Given the description of an element on the screen output the (x, y) to click on. 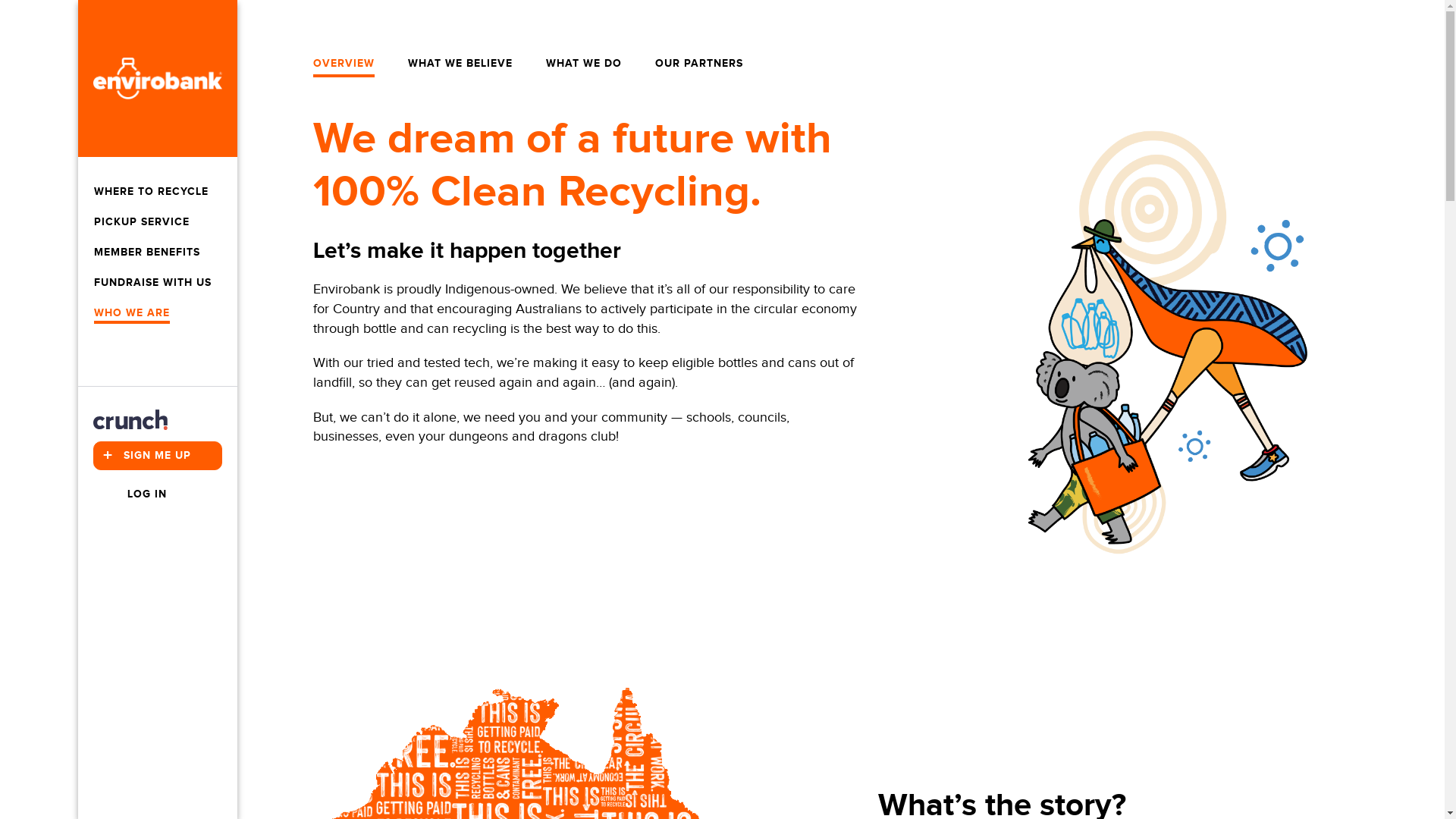
OUR PARTNERS Element type: text (699, 62)
OVERVIEW Element type: text (342, 62)
PICKUP SERVICE Element type: text (141, 222)
MEMBER BENEFITS Element type: text (147, 252)
LOG IN Element type: text (129, 494)
WHAT WE BELIEVE Element type: text (459, 62)
WHERE TO RECYCLE Element type: text (151, 191)
+
SIGN ME UP Element type: text (156, 455)
FUNDRAISE WITH US Element type: text (152, 282)
WHO WE ARE Element type: text (131, 313)
WHAT WE DO Element type: text (583, 62)
